Given the description of an element on the screen output the (x, y) to click on. 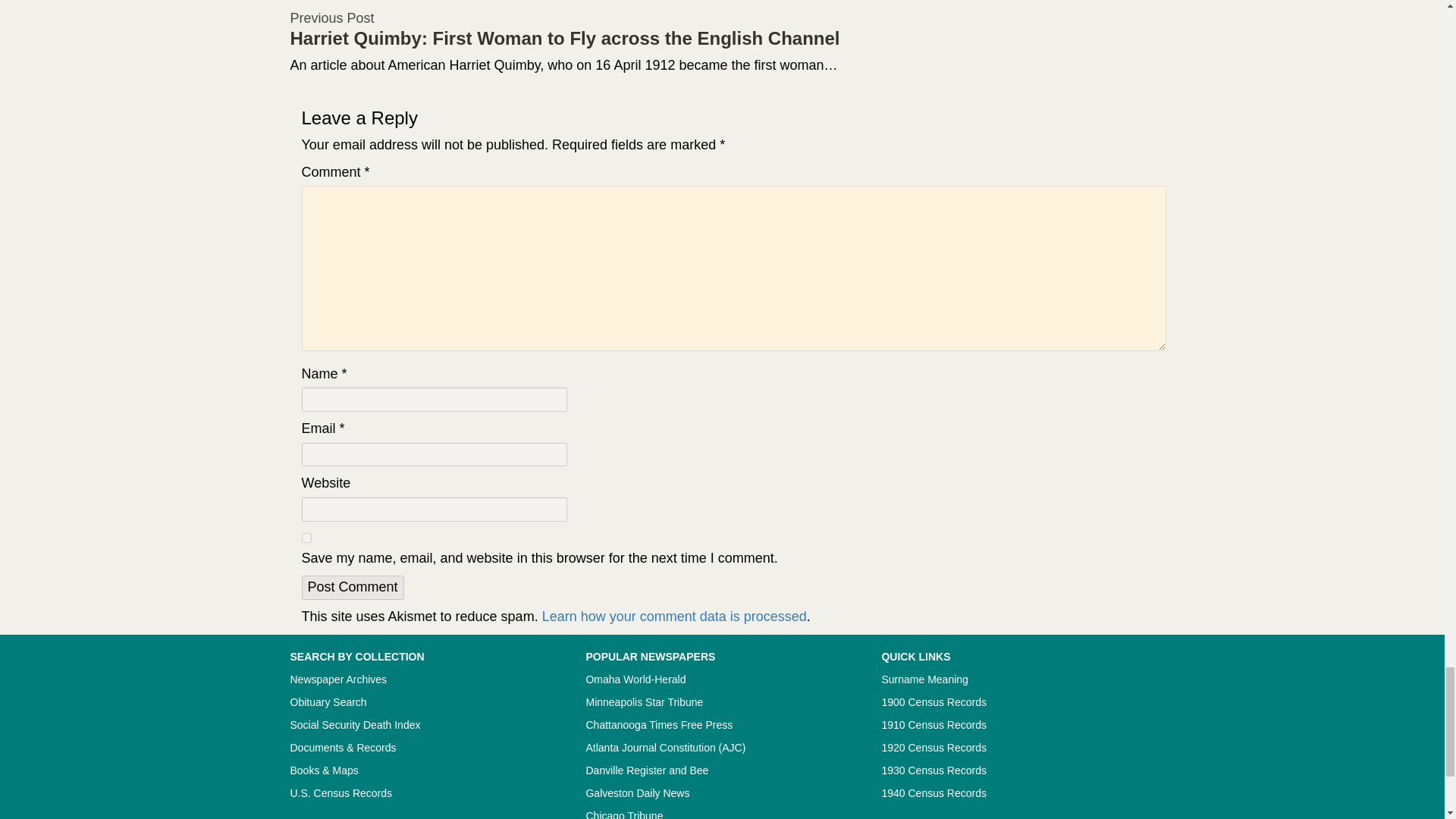
Learn how your comment data is processed (673, 616)
yes (306, 537)
Post Comment (352, 587)
Post Comment (352, 587)
